Given the description of an element on the screen output the (x, y) to click on. 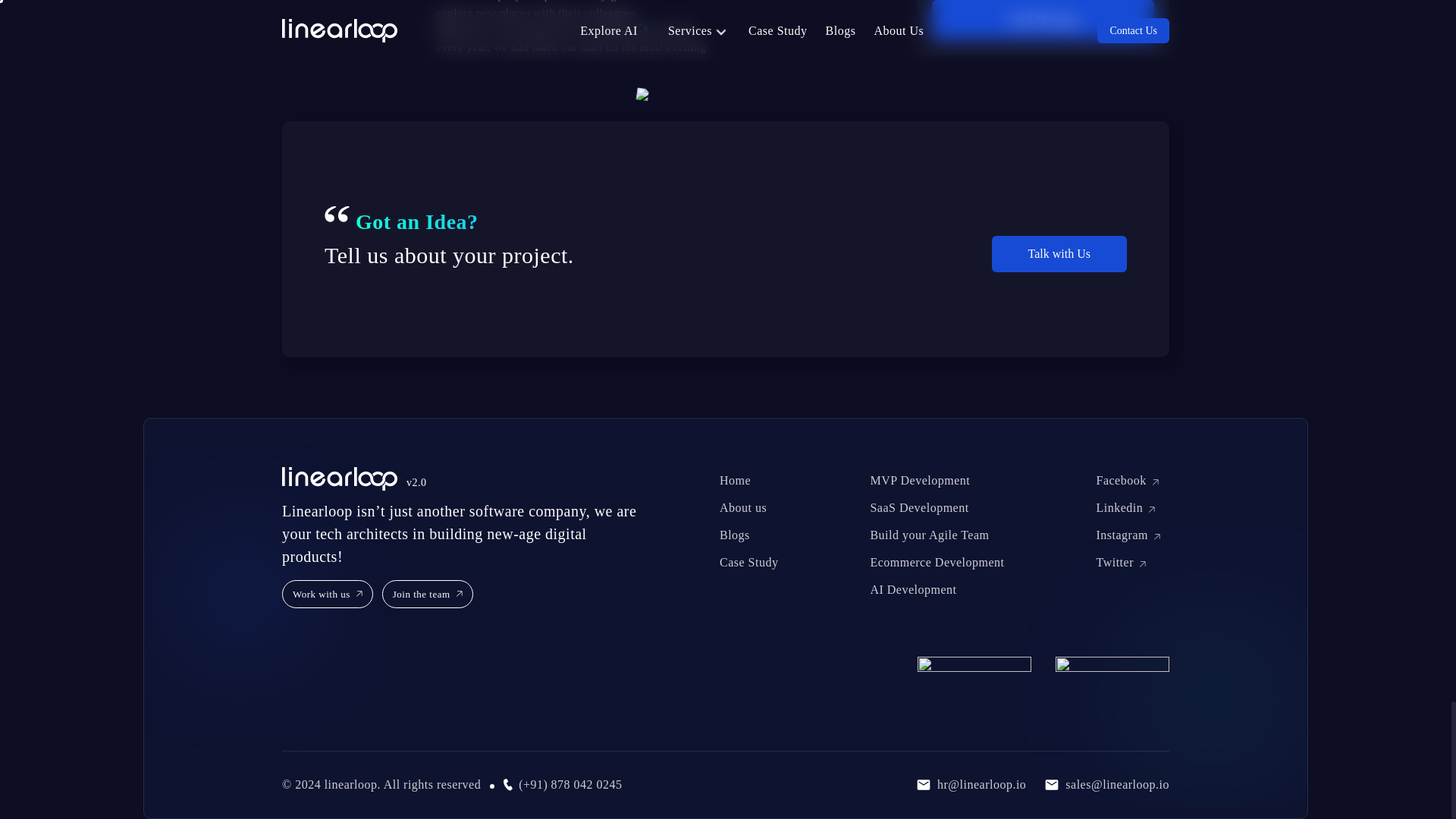
Blogs (734, 534)
Home (735, 480)
Talk with Us (1058, 253)
About us (743, 507)
Work with us (327, 594)
Join the team (427, 594)
